Given the description of an element on the screen output the (x, y) to click on. 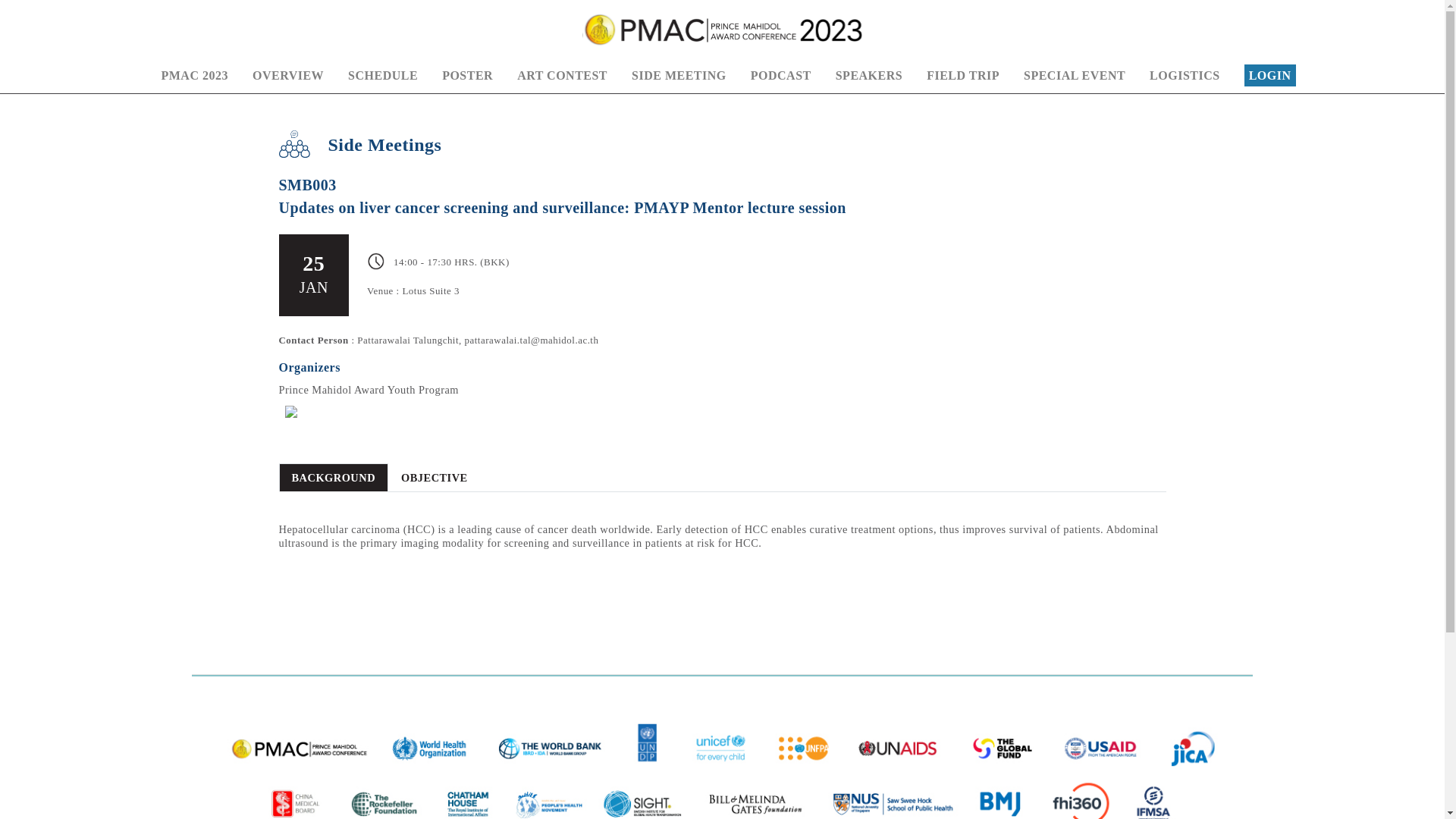
LOGIN (1270, 74)
ART CONTEST (561, 75)
PMAC 2023 (193, 75)
PODCAST (780, 75)
LOGISTICS (1185, 75)
SPECIAL EVENT (1074, 75)
BACKGROUND (333, 477)
SCHEDULE (382, 75)
POSTER (467, 75)
SPEAKERS (868, 75)
SIDE MEETING (678, 75)
OBJECTIVE (434, 477)
OVERVIEW (287, 75)
FIELD TRIP (962, 75)
